Given the description of an element on the screen output the (x, y) to click on. 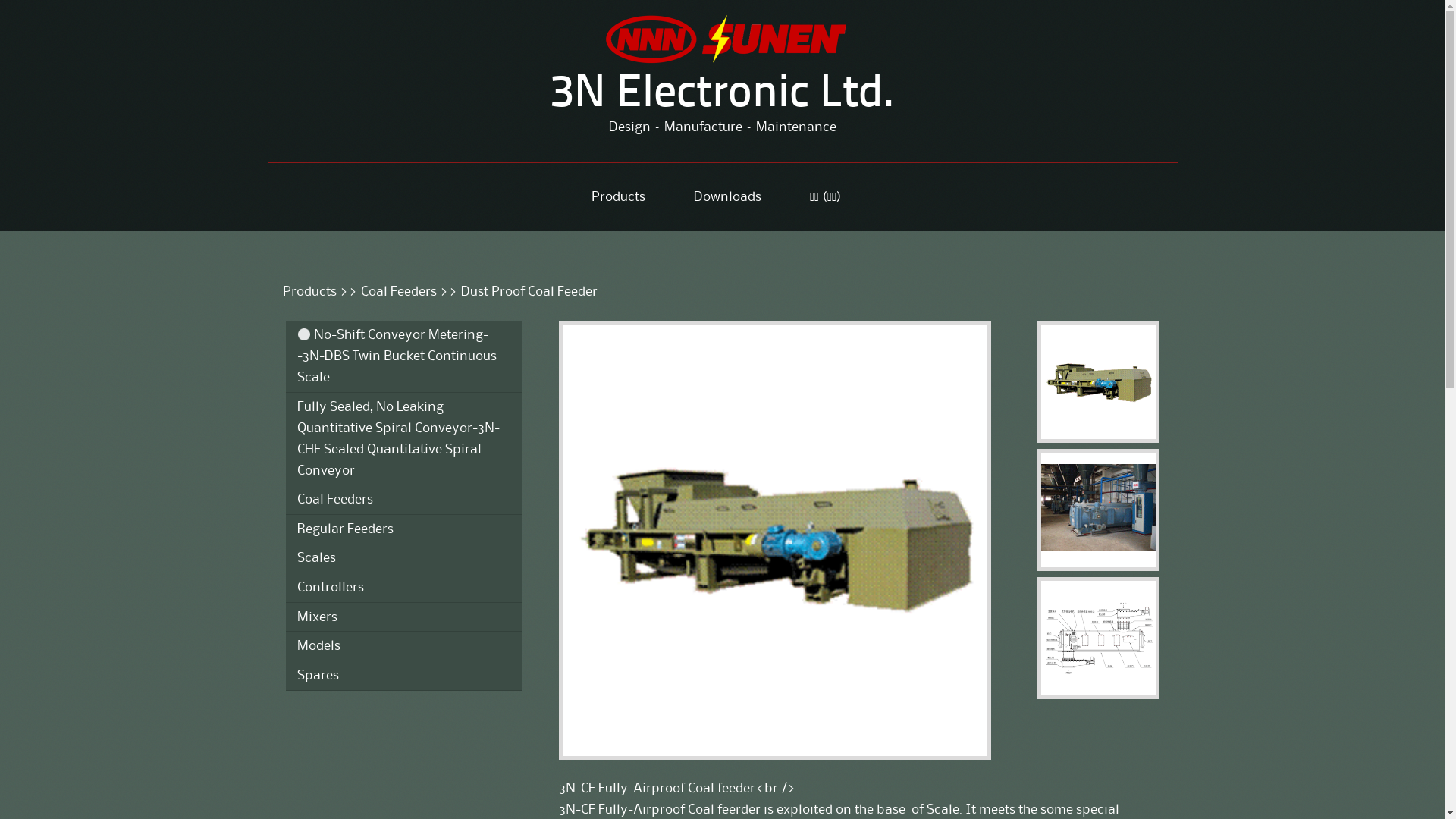
Models Element type: text (403, 645)
Products Element type: text (618, 196)
Scales Element type: text (403, 558)
Coal Feeders Element type: text (398, 291)
Products Element type: text (308, 291)
Controllers Element type: text (403, 587)
Downloads Element type: text (726, 196)
Coal Feeders Element type: text (403, 499)
Skip to content Element type: text (312, 186)
3N Electronic Ltd. Element type: text (721, 94)
Regular Feeders Element type: text (403, 528)
Spares Element type: text (403, 675)
Mixers Element type: text (403, 616)
